Given the description of an element on the screen output the (x, y) to click on. 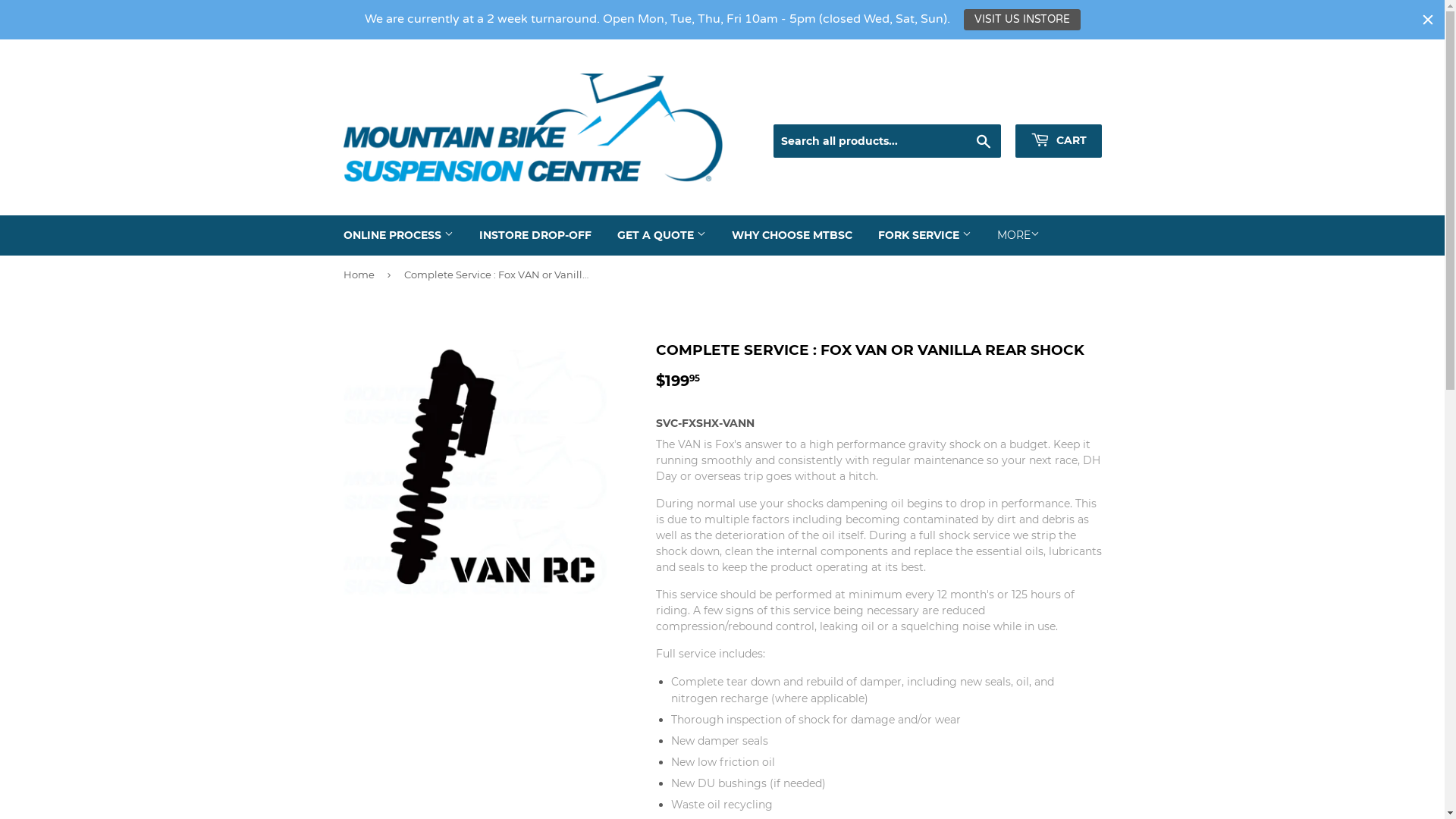
Sign in Element type: text (976, 105)
WHY CHOOSE MTBSC Element type: text (791, 234)
VISIT US INSTORE Element type: text (1021, 19)
ONLINE PROCESS Element type: text (398, 234)
Home Element type: text (360, 274)
MORE Element type: text (1018, 234)
FORK SERVICE Element type: text (924, 234)
INSTORE DROP-OFF Element type: text (534, 234)
CART Element type: text (1057, 140)
Create an Account Element type: text (1057, 105)
GET A QUOTE Element type: text (660, 234)
Search Element type: text (983, 141)
